Given the description of an element on the screen output the (x, y) to click on. 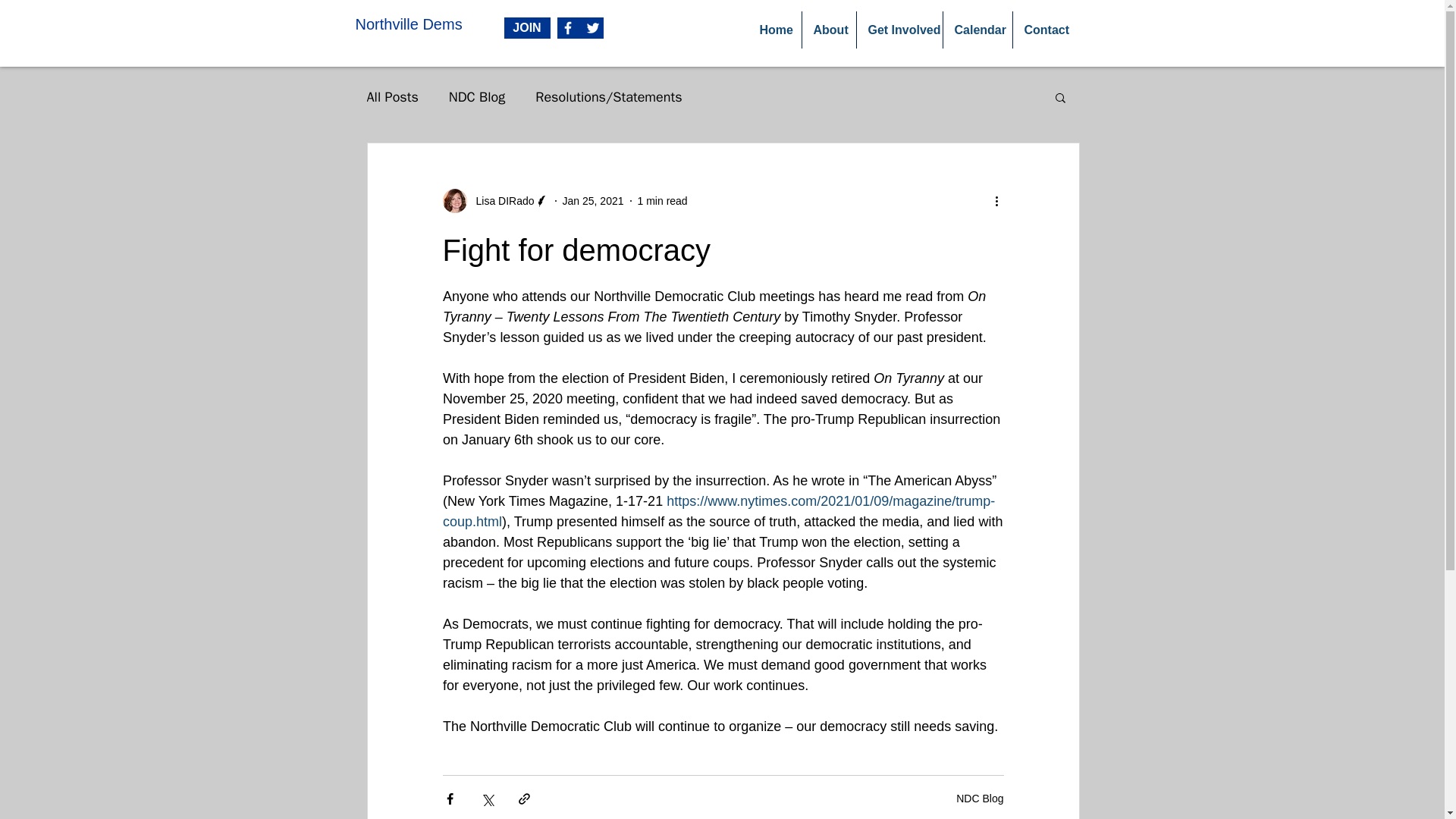
Lisa DIRado (500, 200)
About (829, 29)
JOIN (526, 27)
Home (774, 29)
All Posts (392, 96)
Jan 25, 2021 (593, 200)
Contact (1044, 29)
Get Involved (899, 29)
1 min read (662, 200)
NDC Blog (979, 797)
Calendar (977, 29)
NDC Blog (476, 96)
